Given the description of an element on the screen output the (x, y) to click on. 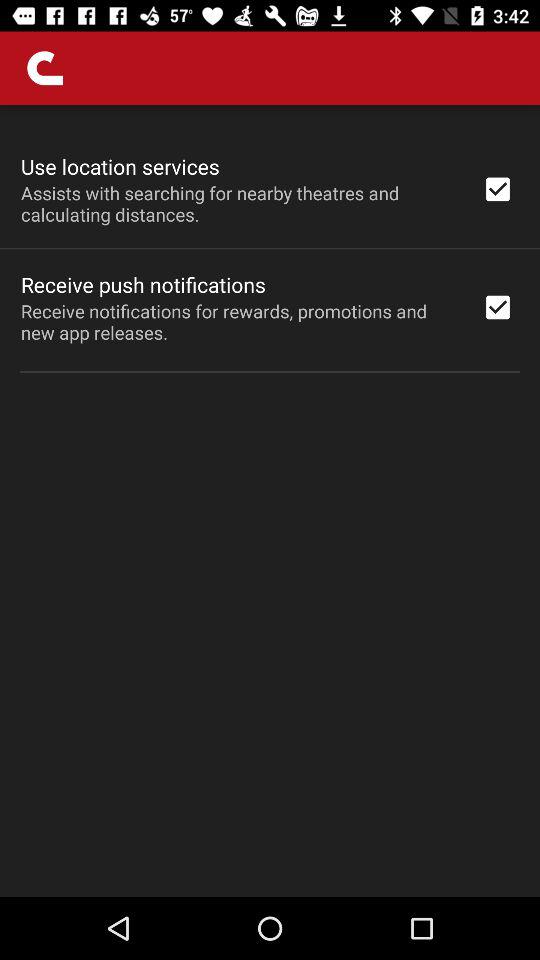
open item above the assists with searching item (120, 166)
